Given the description of an element on the screen output the (x, y) to click on. 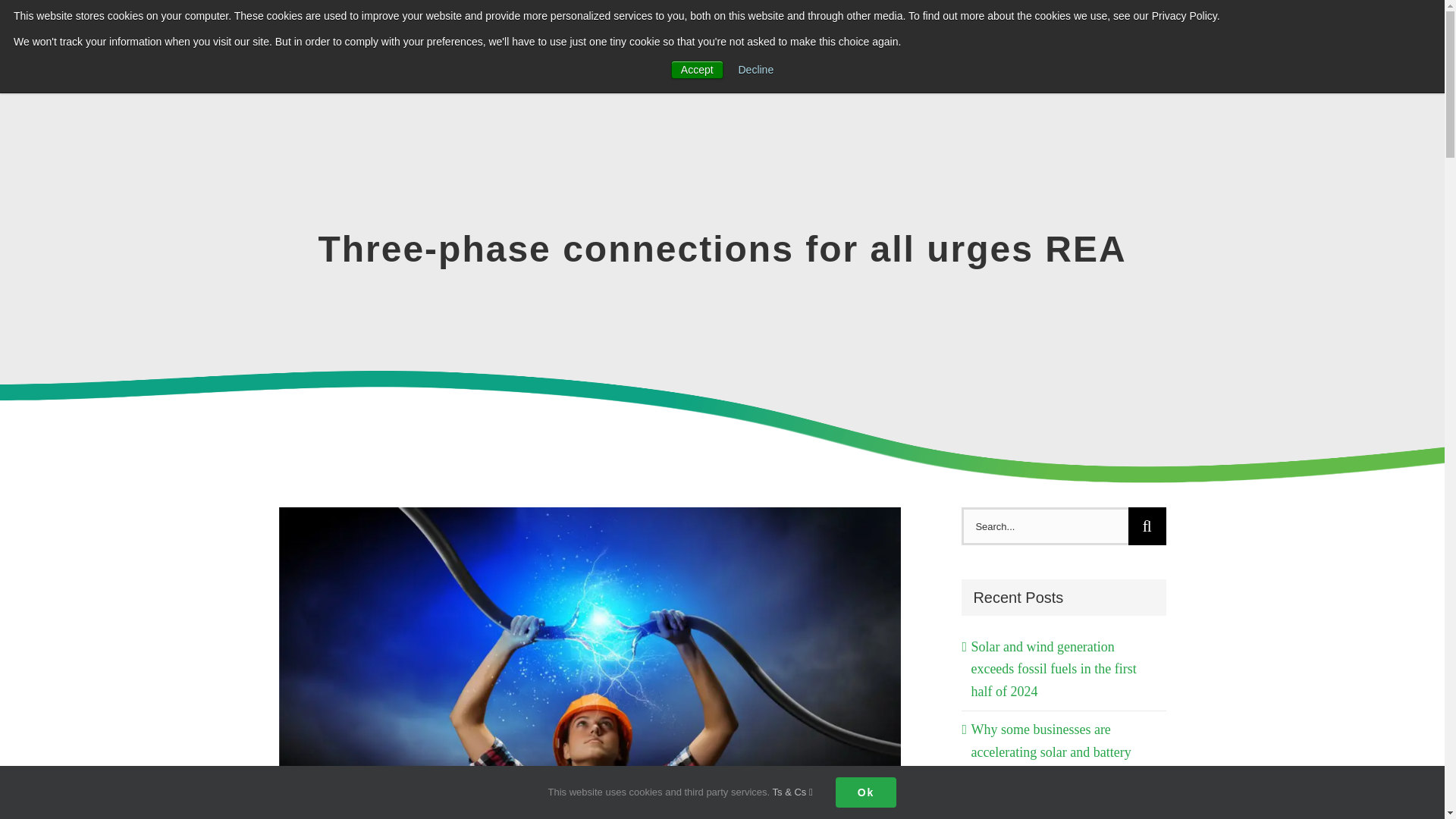
COMMERCIAL (883, 38)
Accept (697, 69)
LEARNING HUB (1021, 38)
SUPPORT (1142, 38)
DOMESTIC (760, 38)
Decline (756, 69)
ABOUT (1239, 38)
